Given the description of an element on the screen output the (x, y) to click on. 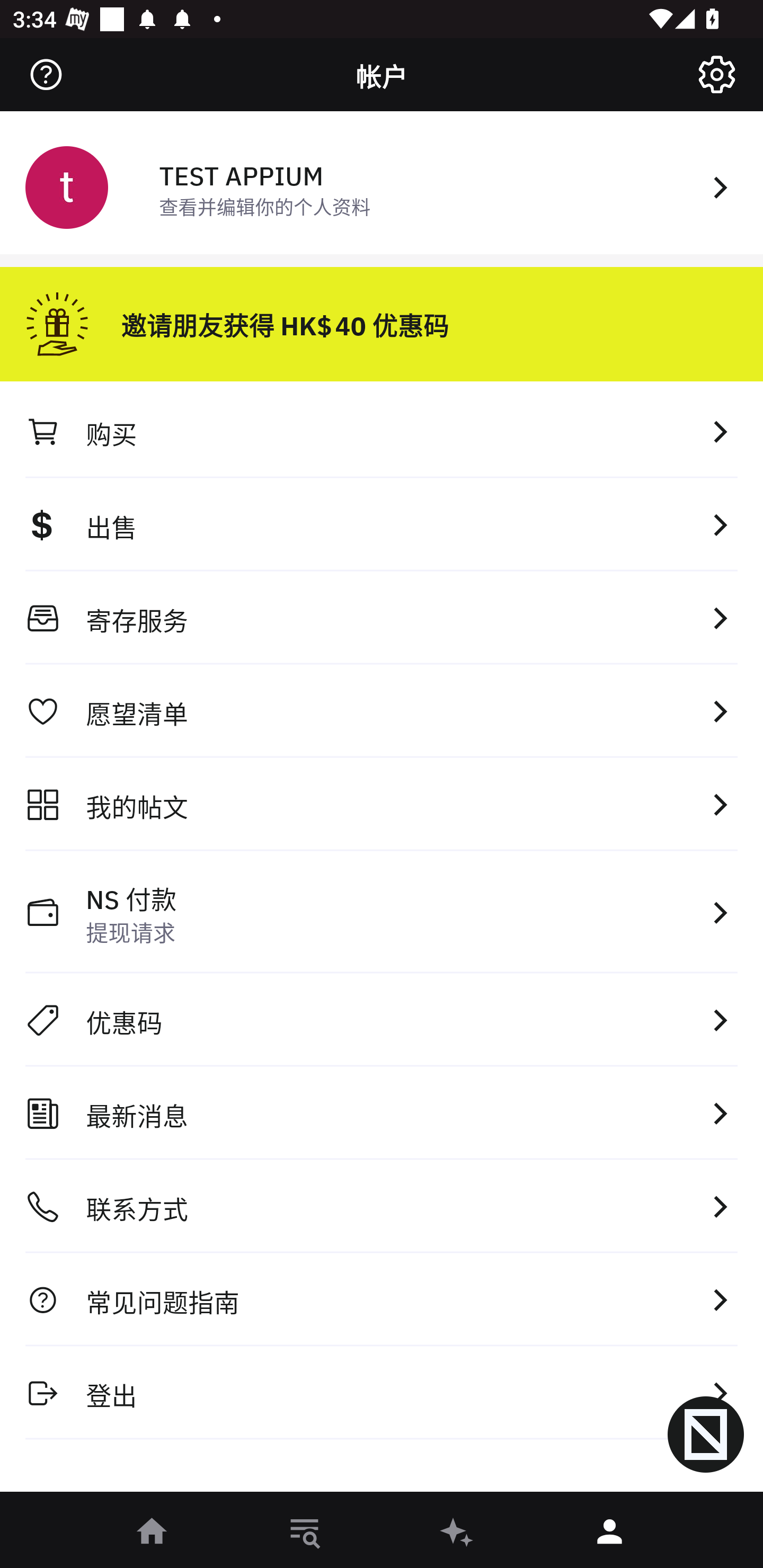
 (46, 74)
 (716, 74)
TEST APPIUM 查看并编辑你的个人资料  (381, 185)
邀请朋友获得 HK$ 40 优惠码 (381, 317)
 购买  (381, 431)
 出售  (381, 524)
 寄存服务  (381, 617)
 愿望清单  (381, 710)
 我的帖文  (381, 804)
 0 NS 付款 提现请求  (381, 912)
 优惠码  (381, 1019)
 最新消息  (381, 1113)
 联系方式  (381, 1206)
 常见问题指南  (381, 1298)
 登出  (381, 1392)
󰋜 (152, 1532)
󱎸 (305, 1532)
󰫢 (457, 1532)
󰀄 (610, 1532)
